Given the description of an element on the screen output the (x, y) to click on. 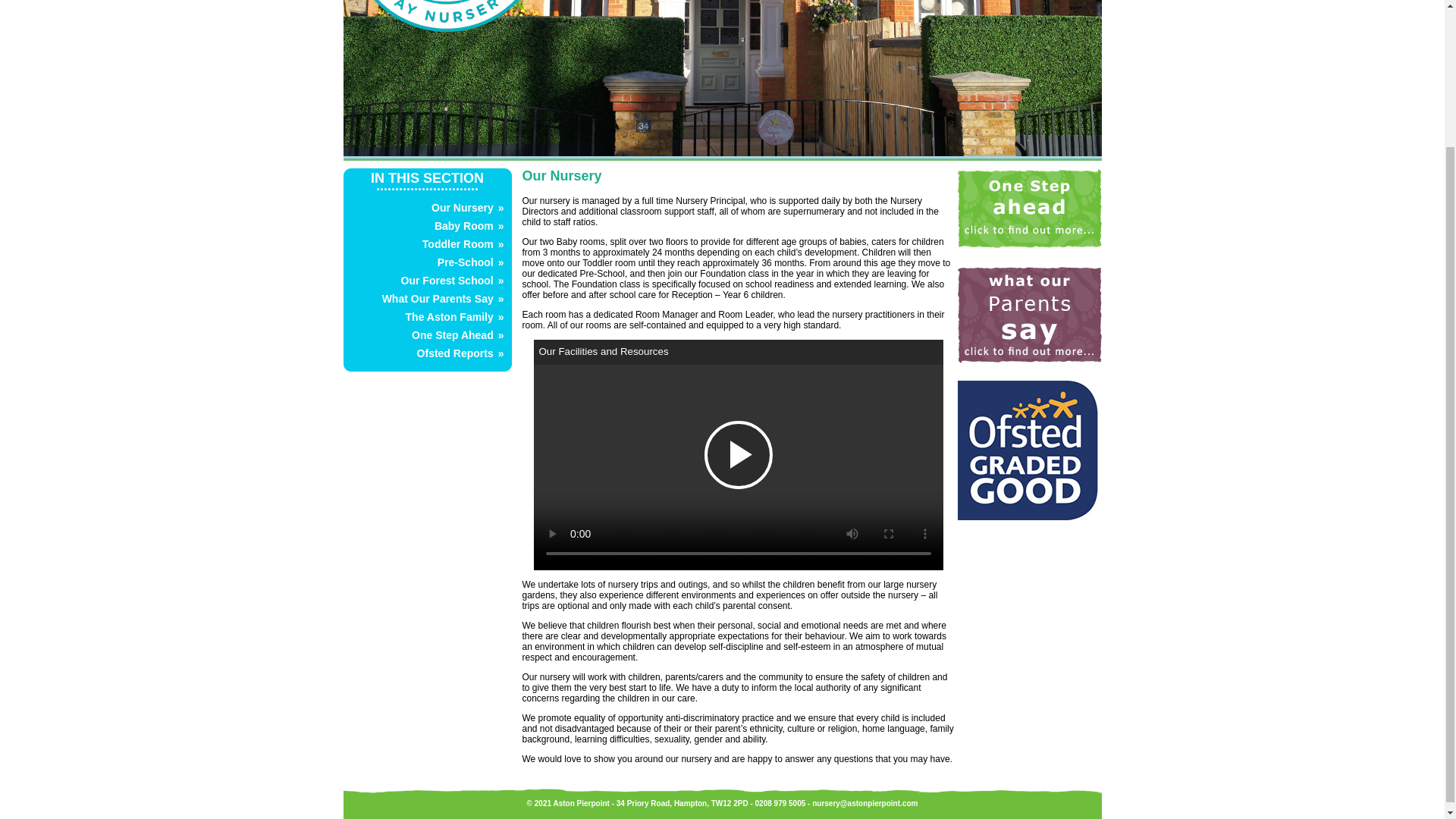
What Our Parents Say (437, 298)
Our Nursery (461, 207)
Pre-School (465, 262)
One Step Ahead (452, 335)
Our Forest School (447, 280)
Play Video (737, 454)
Toddler Room (457, 244)
Play Video (737, 454)
Baby Room (463, 225)
Ofsted Reports (454, 353)
The Aston Family (449, 316)
